Given the description of an element on the screen output the (x, y) to click on. 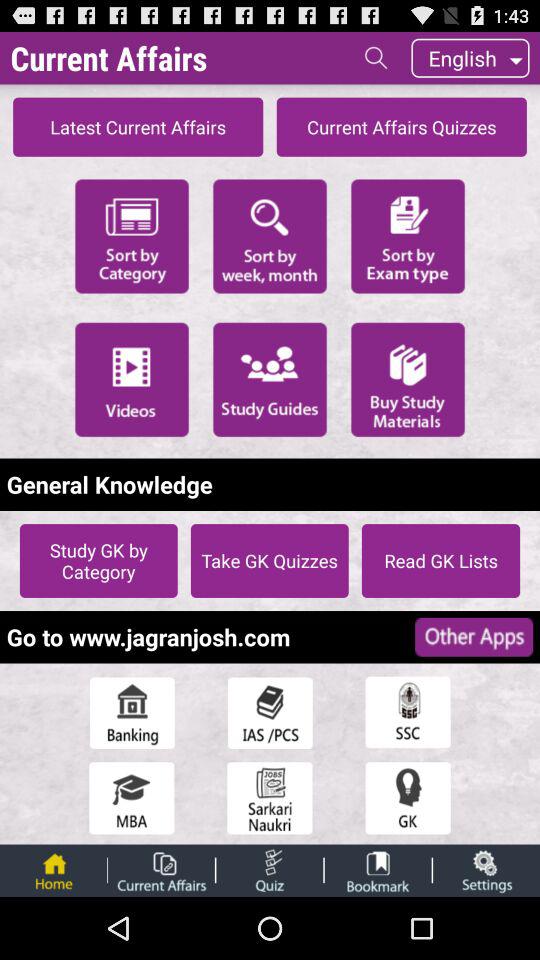
tap icon below the general knowledge item (98, 560)
